Given the description of an element on the screen output the (x, y) to click on. 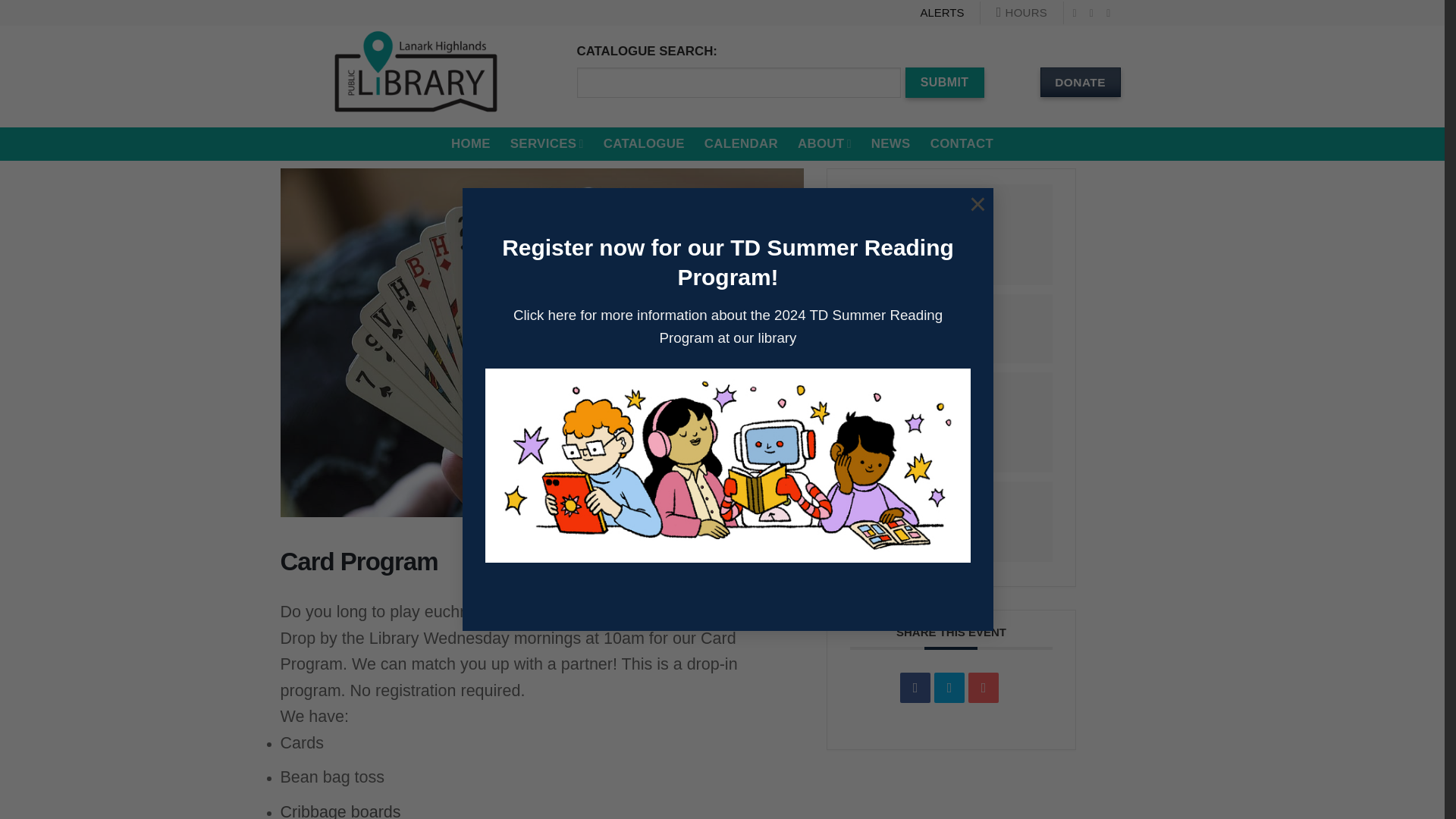
Submit (944, 82)
CONTACT (961, 143)
HOURS (1020, 12)
DONATE (1081, 82)
NEWS (890, 143)
HOME (470, 143)
ABOUT (824, 143)
Tweet (948, 687)
Submit (944, 82)
